Given the description of an element on the screen output the (x, y) to click on. 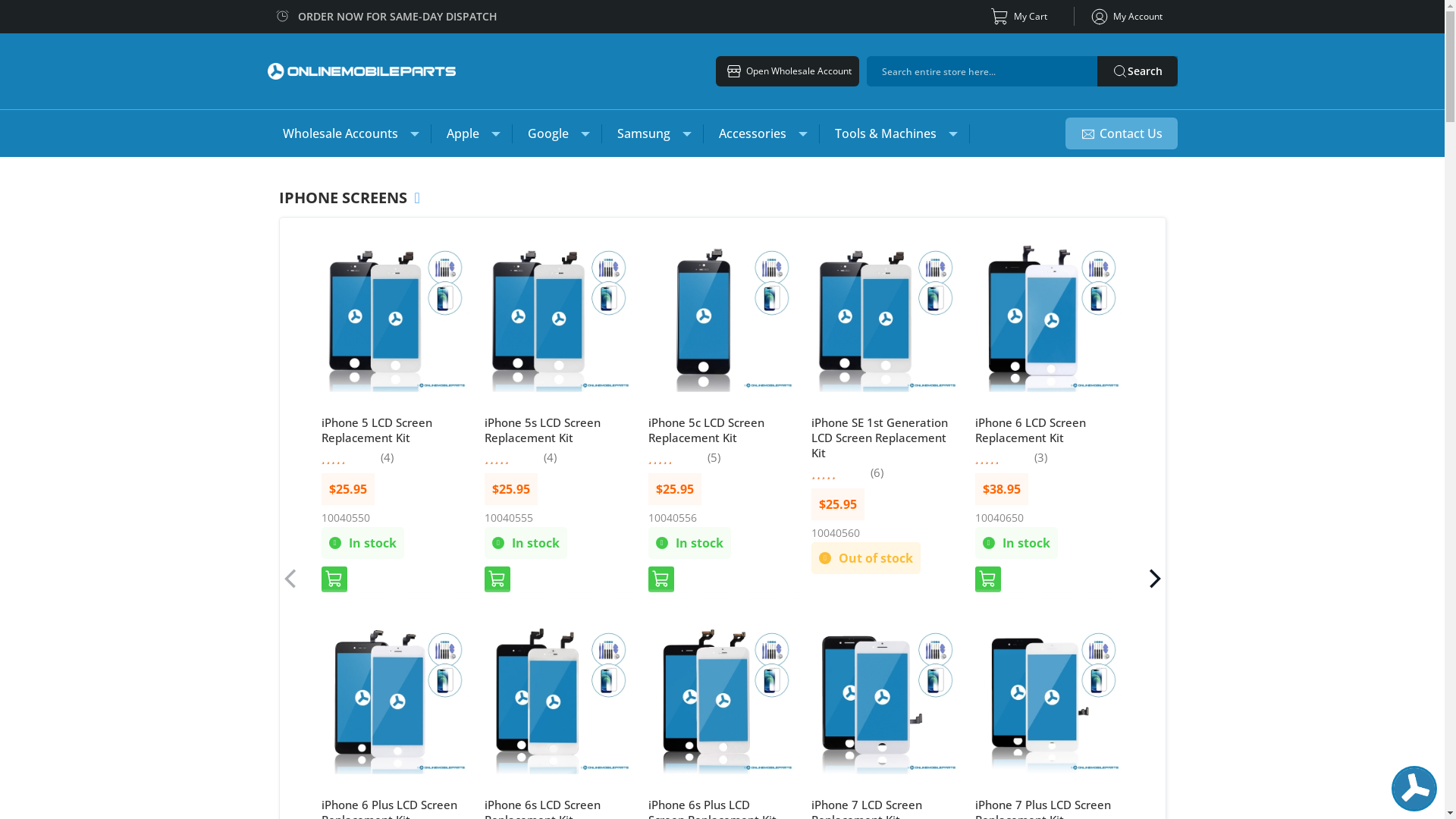
My Cart Element type: text (1020, 16)
My Account Element type: text (1124, 16)
cart Element type: text (334, 579)
Google Element type: text (556, 133)
Online Mobile Parts Logo Element type: hover (360, 70)
Contact Us Element type: text (1120, 133)
IPHONE SCREENS Element type: text (349, 195)
Apple Element type: text (470, 133)
iPhone 5s LCD Screen Replacement Kit Element type: text (542, 429)
cart Element type: text (988, 579)
cart Element type: text (660, 579)
Wholesale Accounts Element type: text (347, 133)
iPhone 5 LCD Screen Replacement Kit Element type: text (376, 429)
Samsung Element type: text (652, 133)
iPhone 6 LCD Screen Replacement Kit Element type: text (1030, 429)
Accessories Element type: text (761, 133)
Open Wholesale Account Element type: text (787, 71)
Tools & Machines Element type: text (893, 133)
iPhone SE 1st Generation LCD Screen Replacement Kit Element type: text (879, 437)
Search Element type: text (1136, 71)
cart Element type: text (497, 579)
iPhone 5c LCD Screen Replacement Kit Element type: text (705, 429)
